Given the description of an element on the screen output the (x, y) to click on. 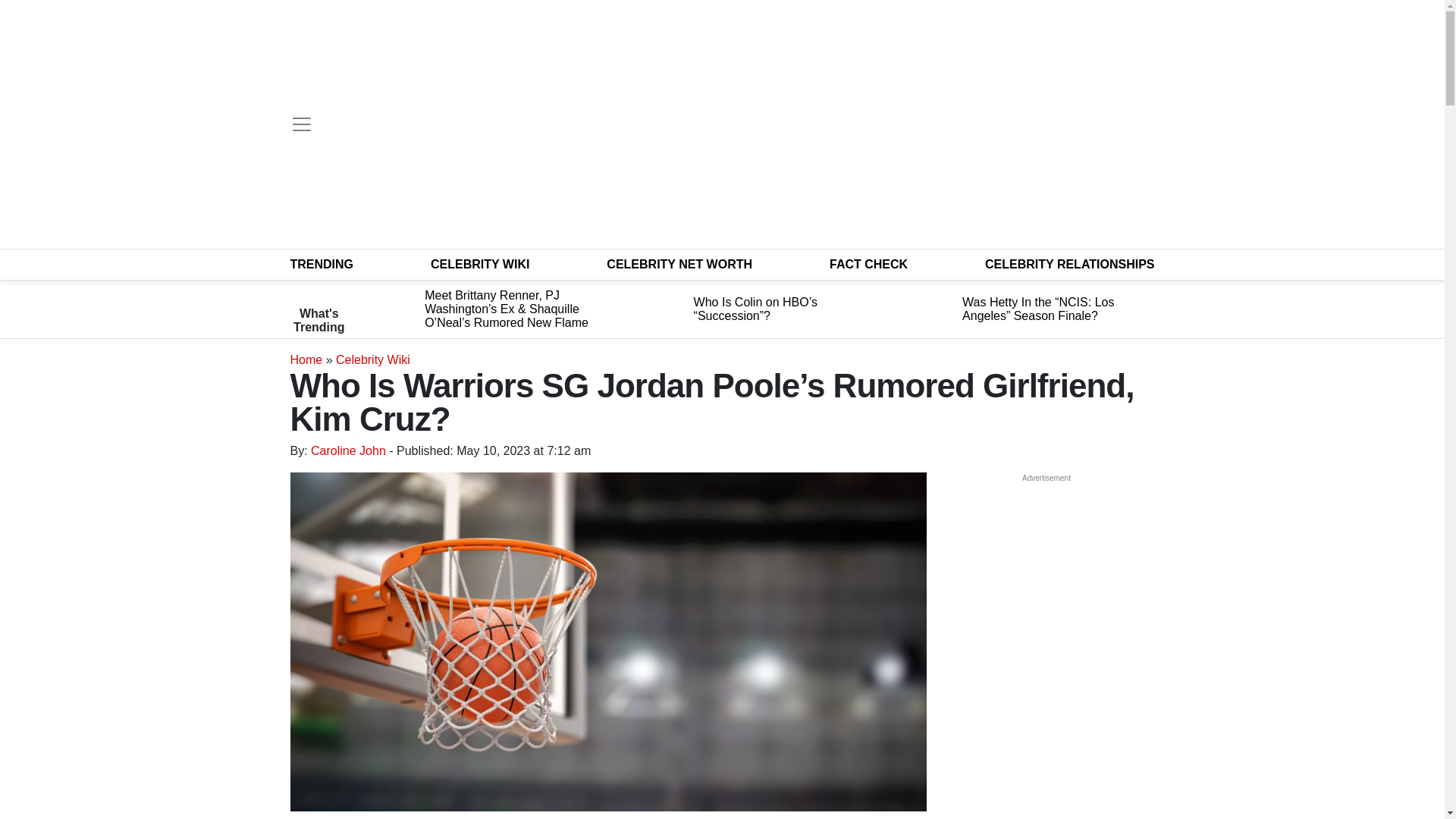
Caroline John (348, 450)
TRENDING (321, 264)
CELEBRITY WIKI (479, 264)
Menu (301, 124)
FACT CHECK (868, 264)
Home (305, 359)
CELEBRITY RELATIONSHIPS (1069, 264)
Celebrity Wiki (373, 359)
Posts by Caroline John (348, 450)
CELEBRITY NET WORTH (679, 264)
